Given the description of an element on the screen output the (x, y) to click on. 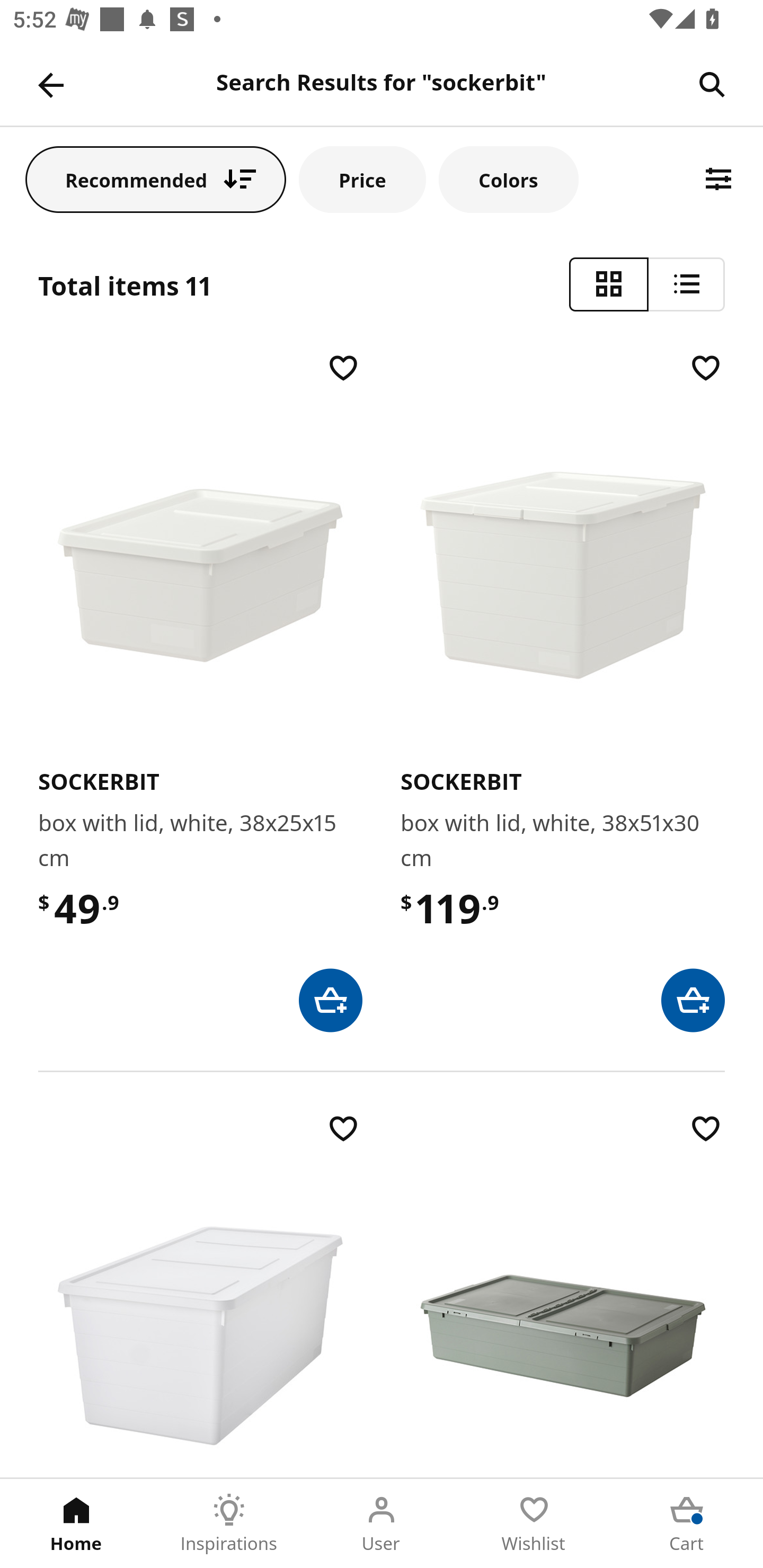
Recommended (155, 179)
Price (362, 179)
Colors (508, 179)
Home
Tab 1 of 5 (76, 1522)
Inspirations
Tab 2 of 5 (228, 1522)
User
Tab 3 of 5 (381, 1522)
Wishlist
Tab 4 of 5 (533, 1522)
Cart
Tab 5 of 5 (686, 1522)
